Given the description of an element on the screen output the (x, y) to click on. 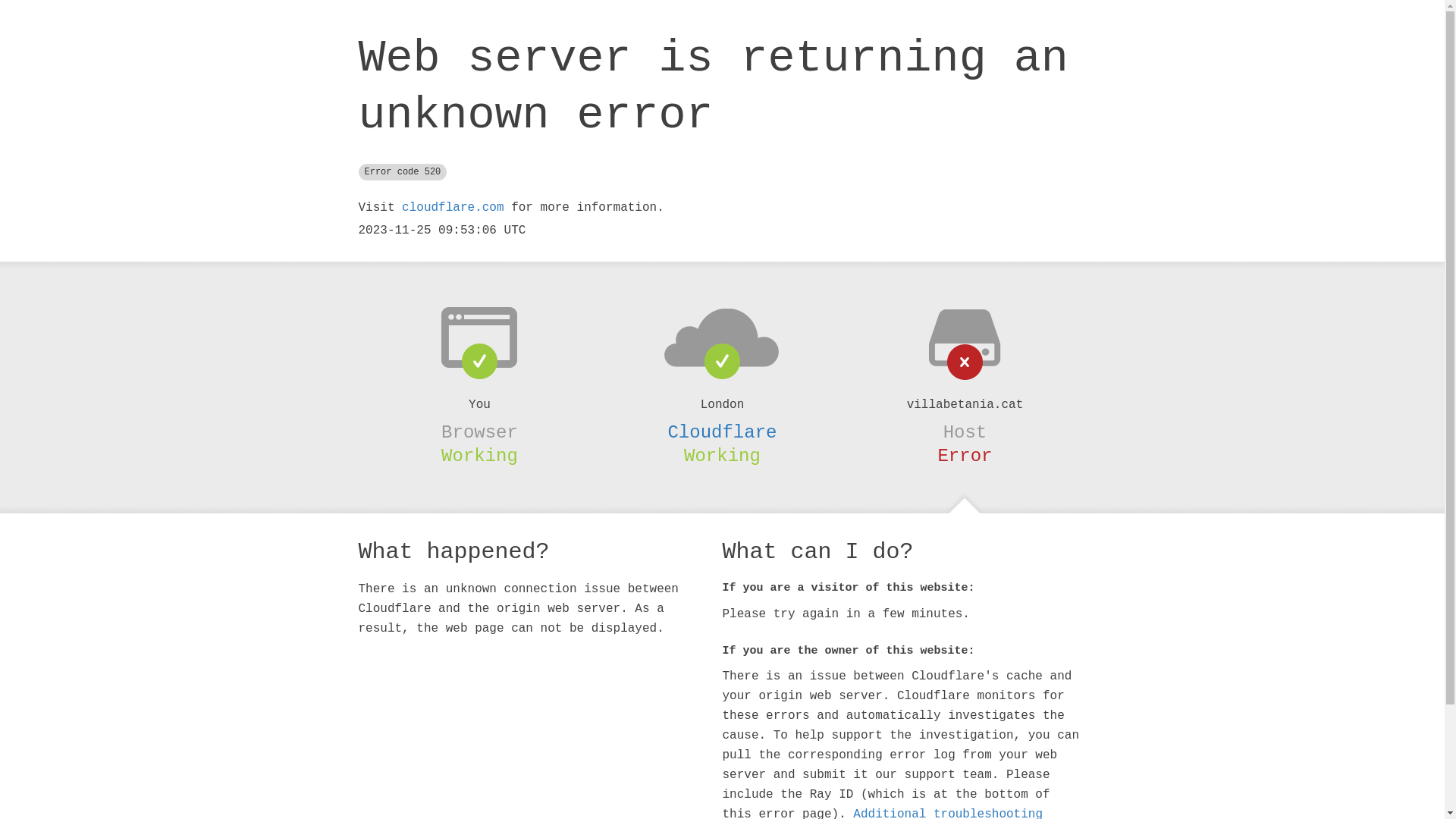
Cloudflare Element type: text (721, 432)
cloudflare.com Element type: text (452, 207)
